Given the description of an element on the screen output the (x, y) to click on. 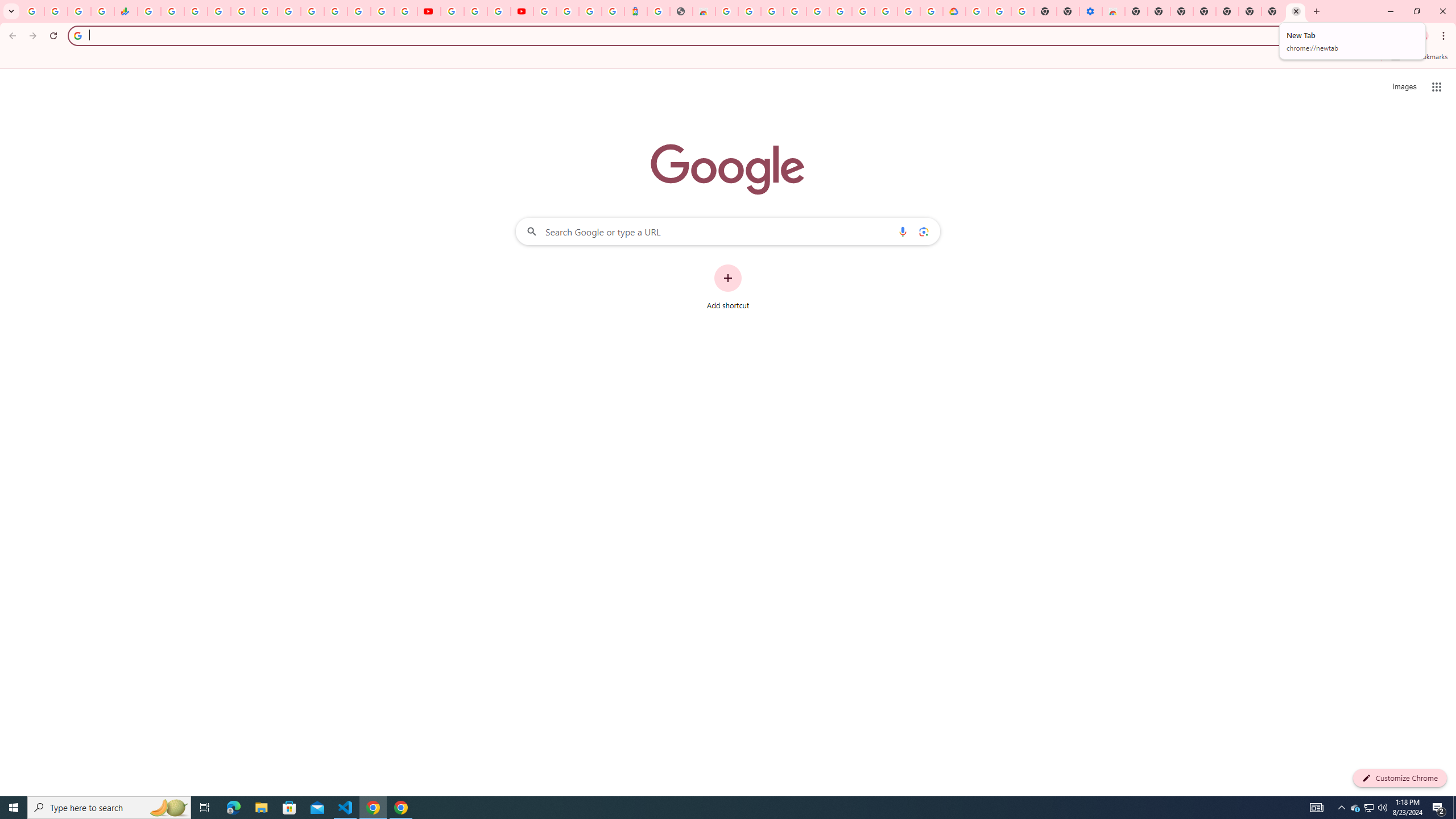
New Tab (1136, 11)
Add shortcut (727, 287)
New Tab (1295, 11)
Atour Hotel - Google hotels (635, 11)
Google Account Help (863, 11)
YouTube (428, 11)
Create your Google Account (749, 11)
Sign in - Google Accounts (567, 11)
